Given the description of an element on the screen output the (x, y) to click on. 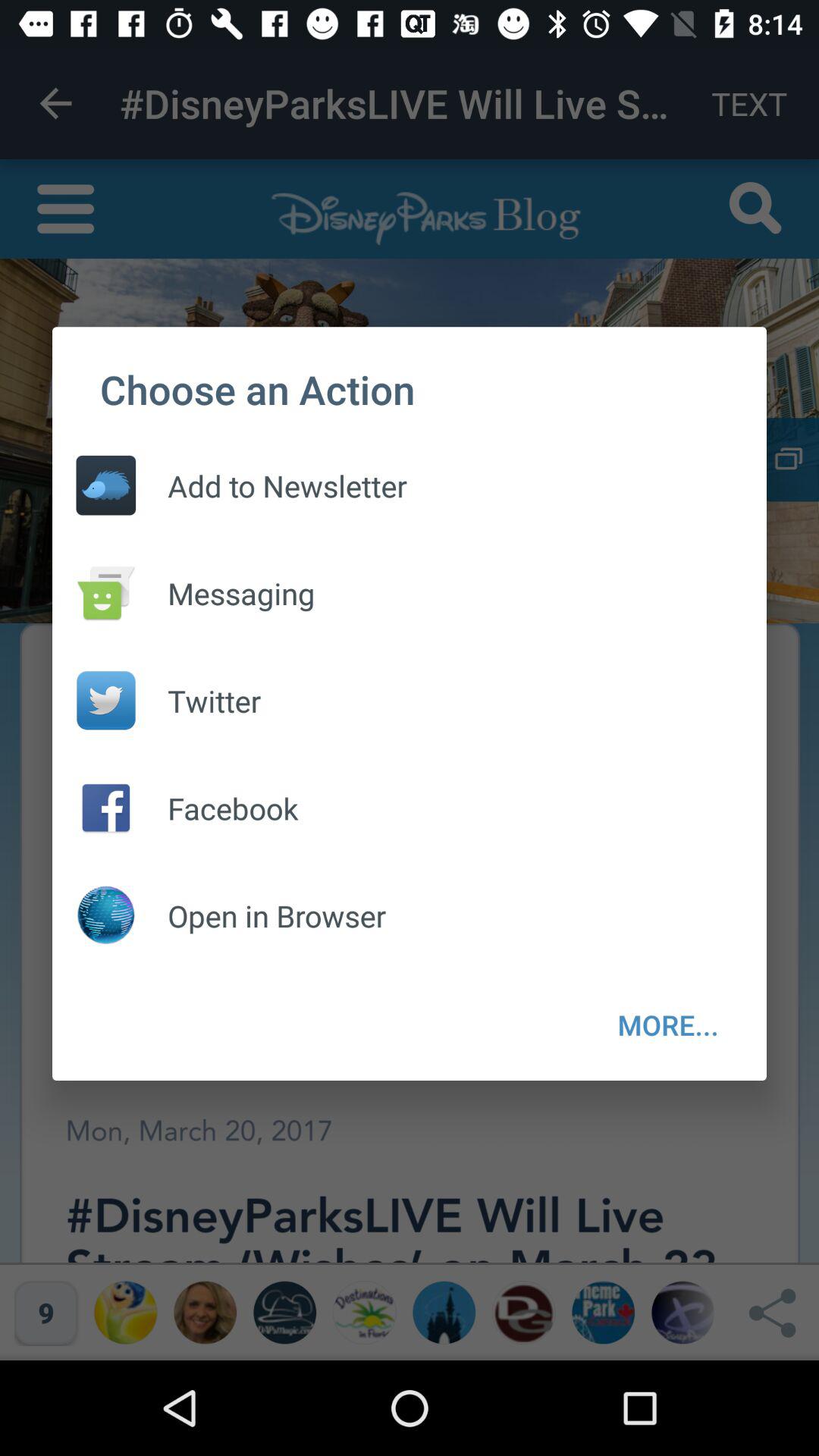
select twitter item (198, 700)
